Given the description of an element on the screen output the (x, y) to click on. 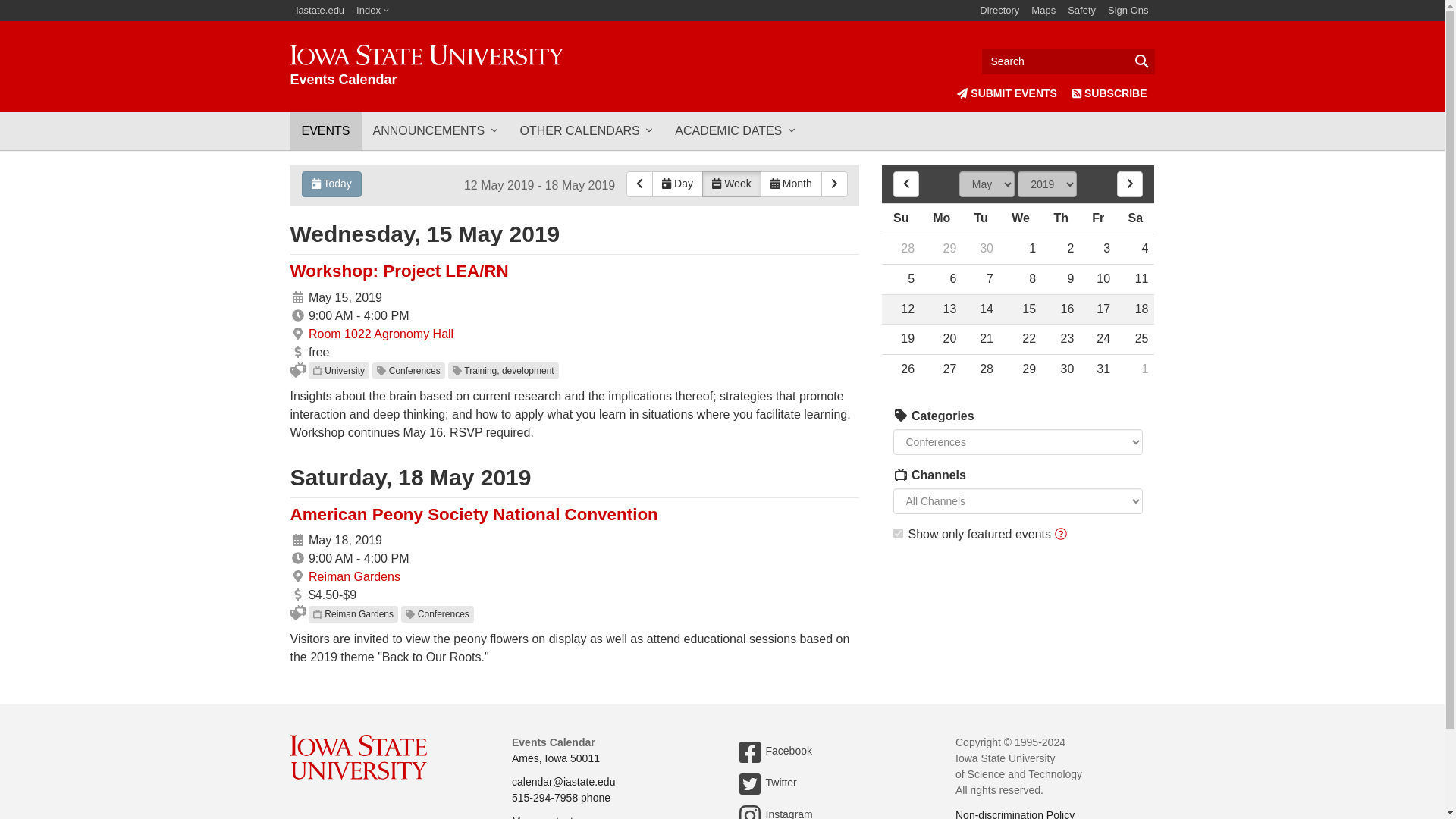
SUBMIT EVENTS (1006, 93)
Date (296, 297)
Cost (296, 594)
Categories (900, 415)
Home (425, 66)
Date (296, 539)
Channel (317, 614)
Sign Ons (1128, 10)
Categories (900, 415)
Channel (425, 66)
Time (317, 370)
Time (296, 558)
Directory (296, 315)
Categories (999, 10)
